Given the description of an element on the screen output the (x, y) to click on. 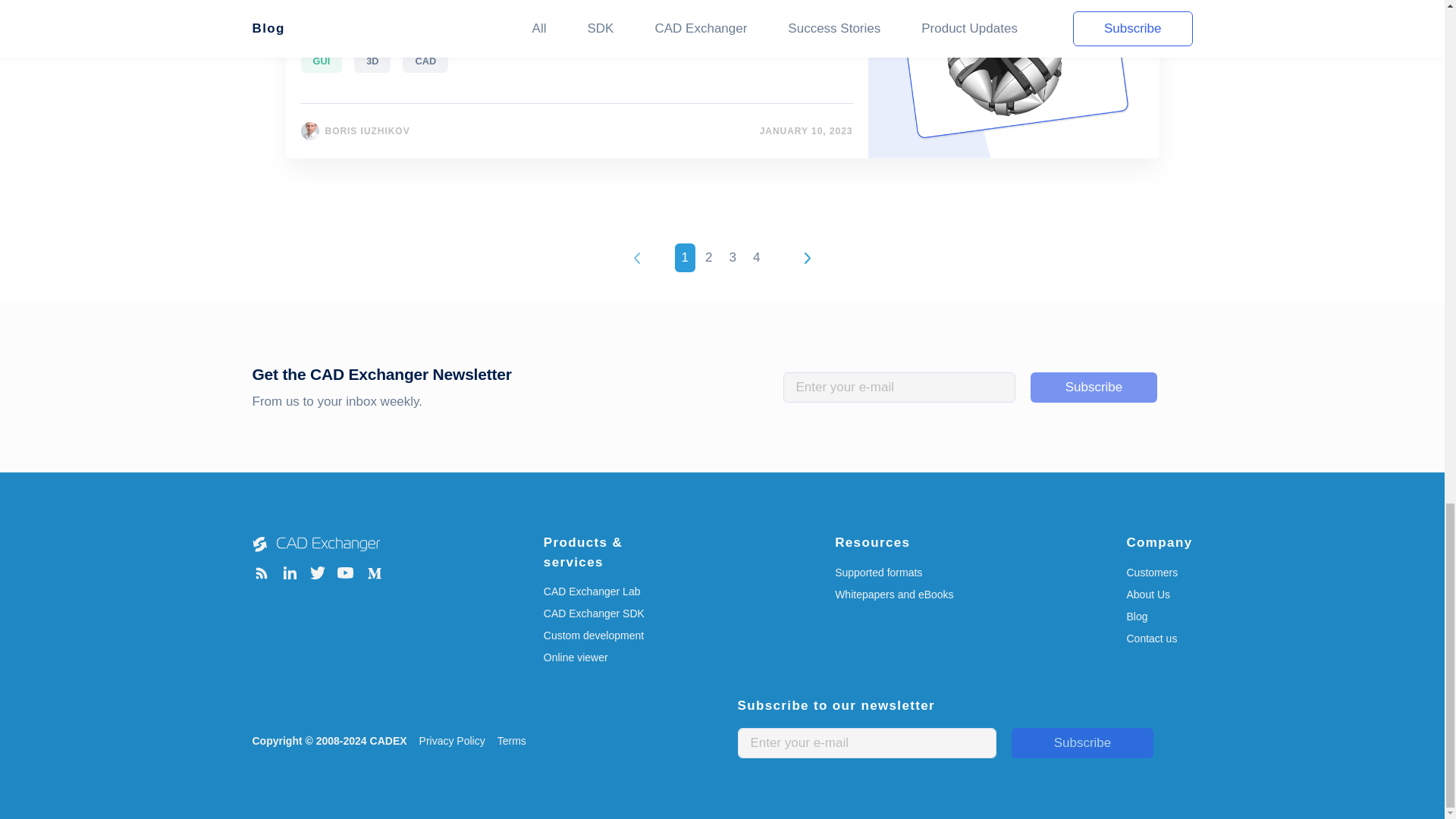
CAD Exchanger SDK (609, 613)
Custom development (609, 635)
CAD Exchanger Lab (609, 591)
Online viewer (609, 657)
Boris Iuzhikov (308, 131)
Subscribe (1093, 387)
